Given the description of an element on the screen output the (x, y) to click on. 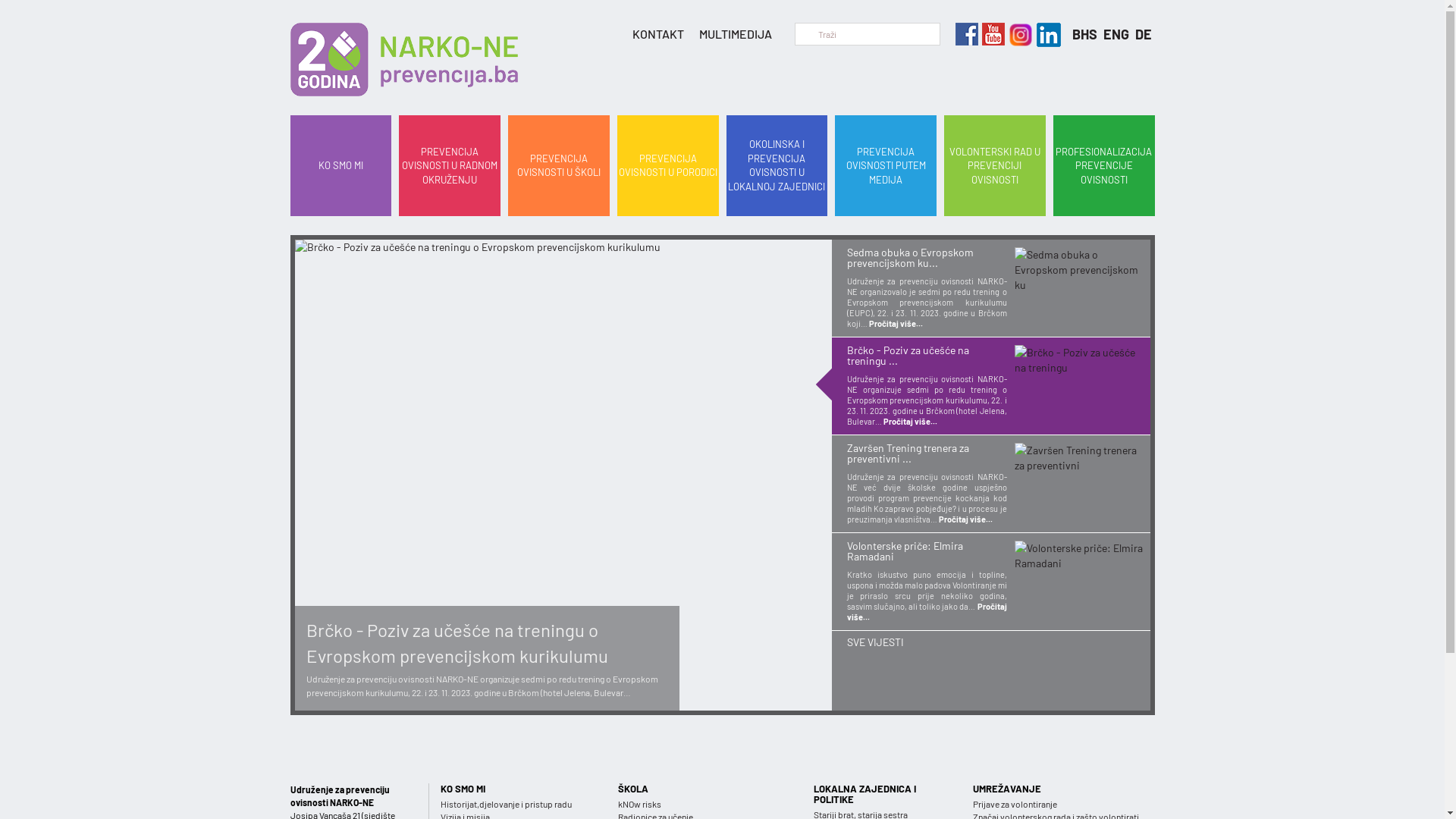
KO SMO MI Element type: text (340, 165)
DE Element type: text (1142, 33)
Prijave za volontiranje Element type: text (1063, 803)
Historijat,djelovanje i pristup radu Element type: text (517, 803)
PREVENCIJA OVISNOSTI U PORODICI Element type: text (667, 165)
Instagram Element type: hover (1046, 29)
VOLONTERSKI RAD U PREVENCIJI OVISNOSTI Element type: text (994, 165)
Youtube Element type: hover (991, 29)
Sedma obuka o Evropskom prevencijskom ku... Element type: text (926, 261)
BHS Element type: text (1086, 33)
PROFESIONALIZACIJA PREVENCIJE OVISNOSTI Element type: text (1103, 165)
SVE VIJESTI Element type: text (990, 641)
PREVENCIJA OVISNOSTI PUTEM MEDIJA Element type: text (885, 165)
OKOLINSKA I PREVENCIJA OVISNOSTI U LOKALNOJ ZAJEDNICI Element type: text (777, 165)
MULTIMEDIJA Element type: text (735, 33)
Instagram Element type: hover (1018, 29)
kNOw risks Element type: text (704, 803)
ENG Element type: text (1116, 33)
KONTAKT Element type: text (658, 33)
